Given the description of an element on the screen output the (x, y) to click on. 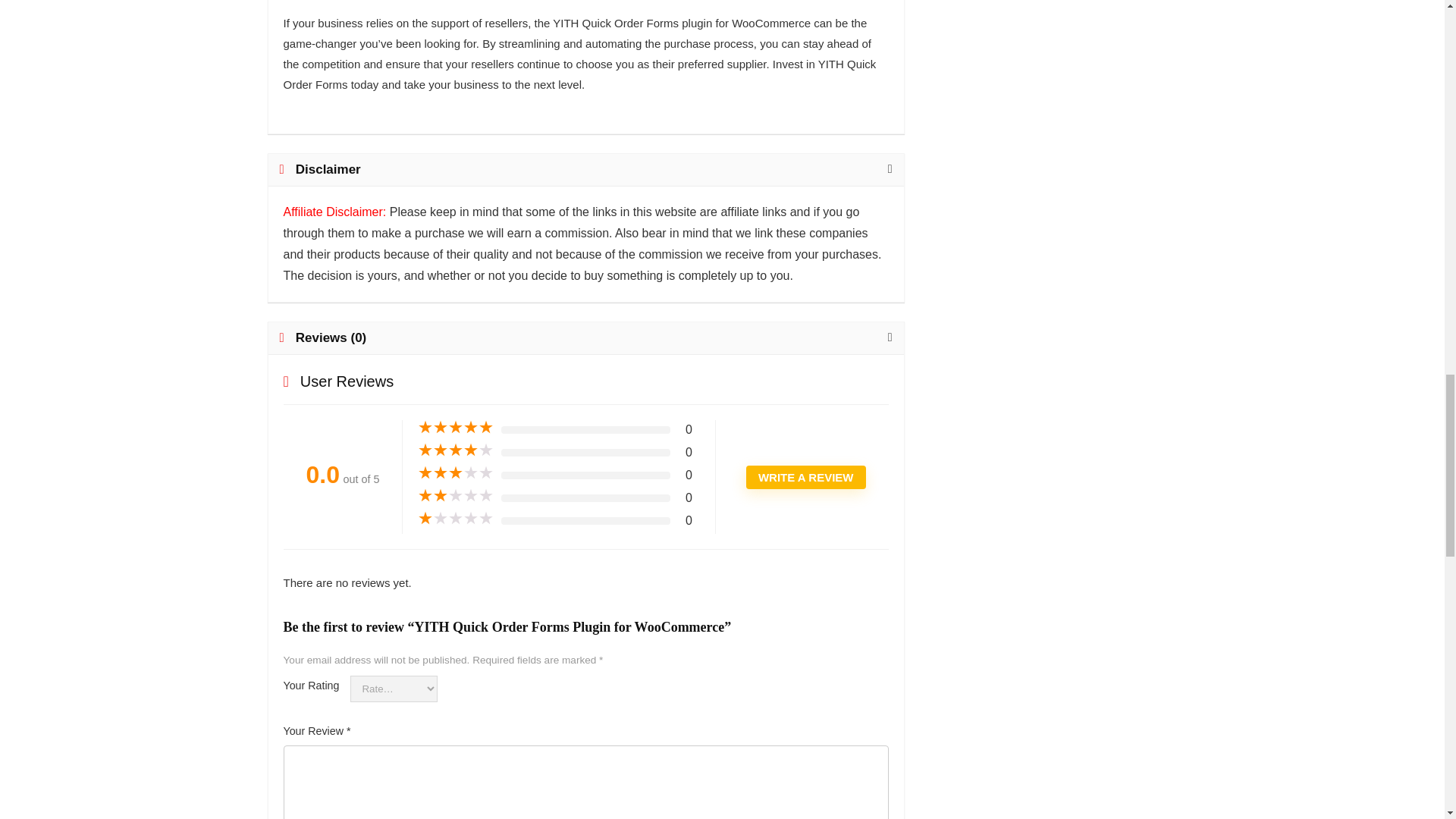
Rated 2 out of 5 (455, 495)
Rated 4 out of 5 (455, 450)
Rated 1 out of 5 (455, 518)
Rated 3 out of 5 (455, 473)
WRITE A REVIEW (805, 477)
Rated 5 out of 5 (455, 427)
